Given the description of an element on the screen output the (x, y) to click on. 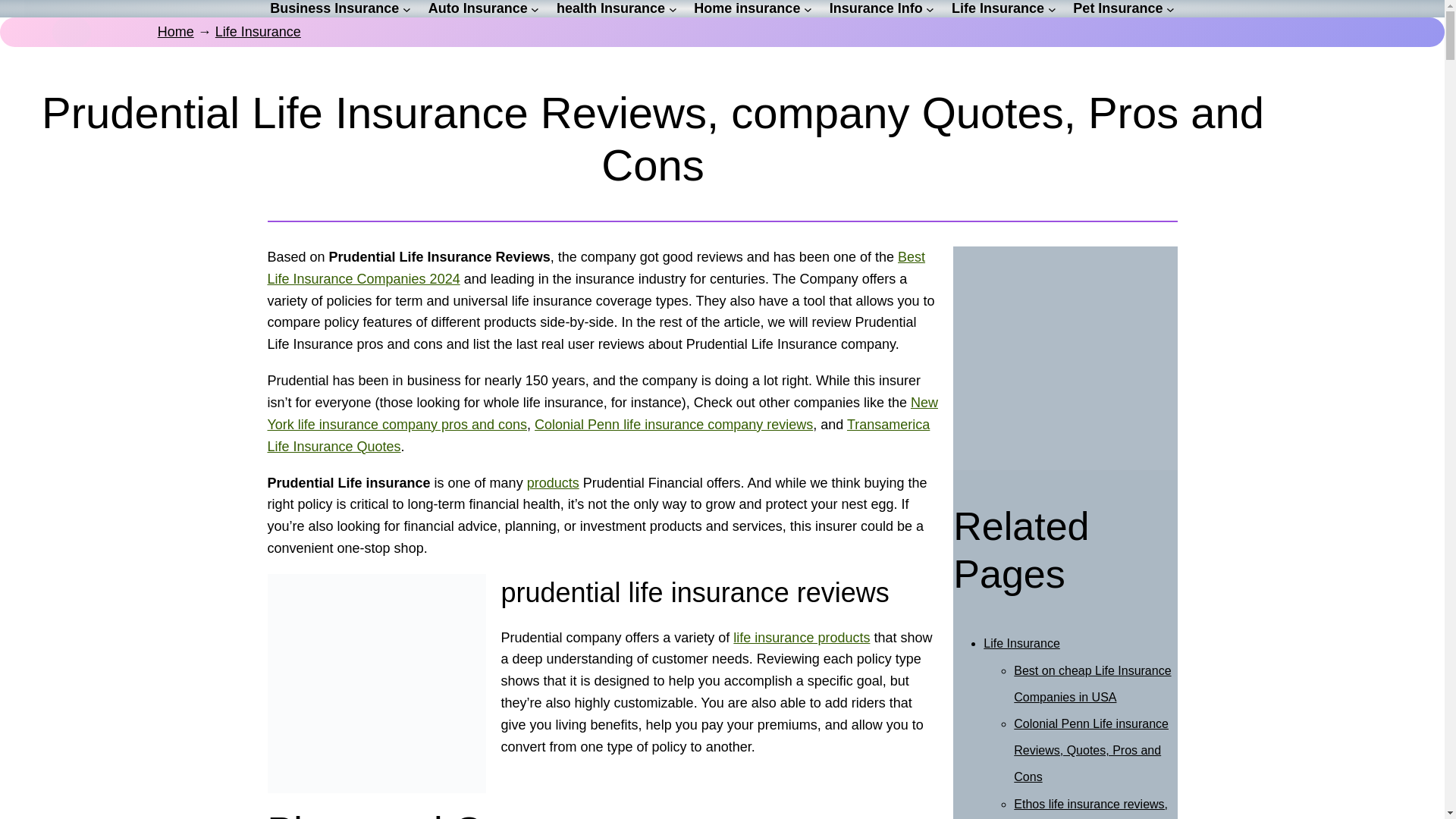
Business Insurance (333, 8)
Home (175, 31)
Home insurance (746, 8)
Life Insurance (258, 31)
Auto Insurance (477, 8)
prudential life insurance reviews pros (376, 683)
health Insurance (610, 8)
